Given the description of an element on the screen output the (x, y) to click on. 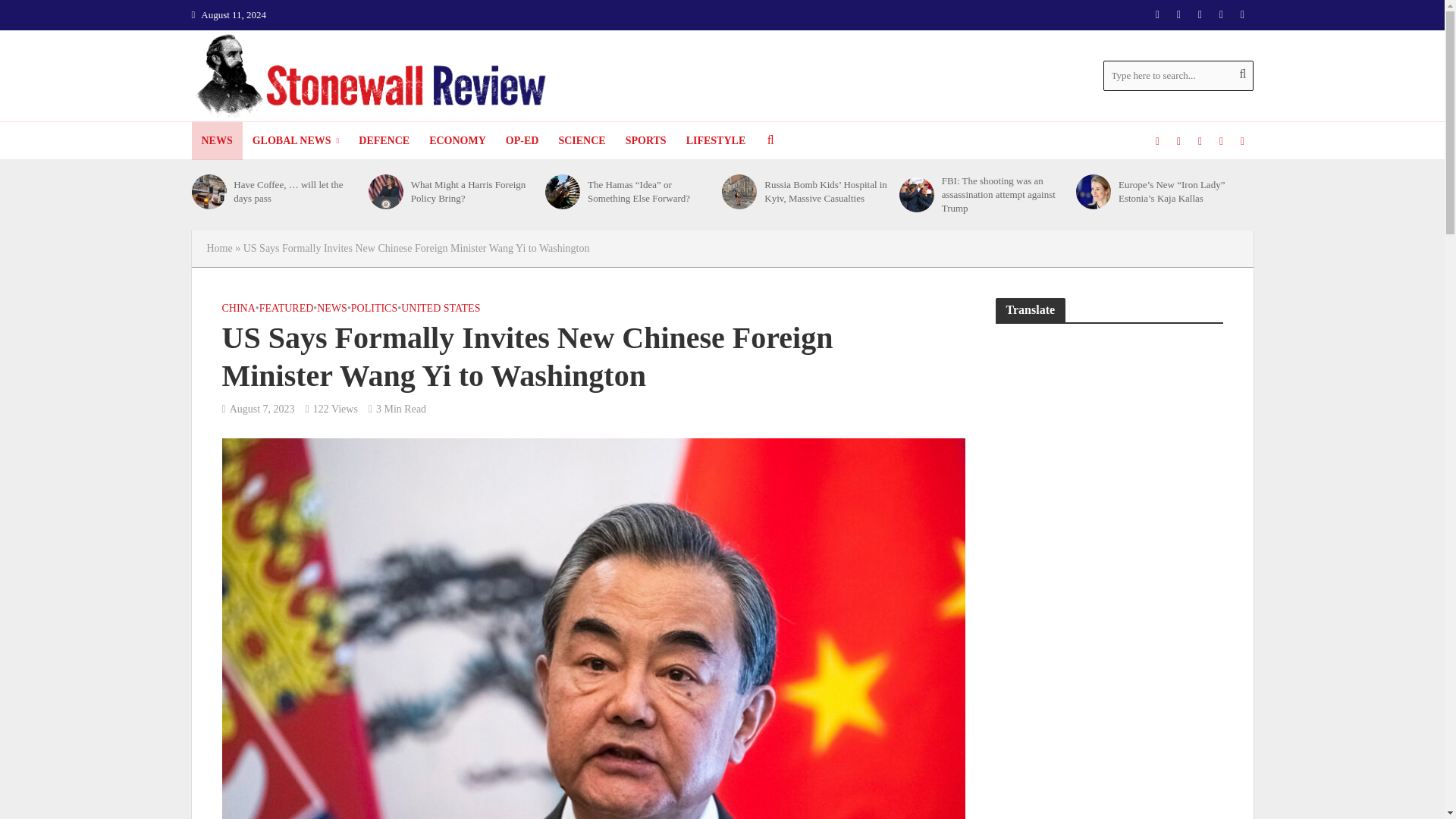
NEWS (215, 140)
GLOBAL NEWS (296, 140)
What Might a Harris Foreign Policy Bring? (385, 191)
FBI: The shooting was an assassination attempt against Trump (916, 194)
